Given the description of an element on the screen output the (x, y) to click on. 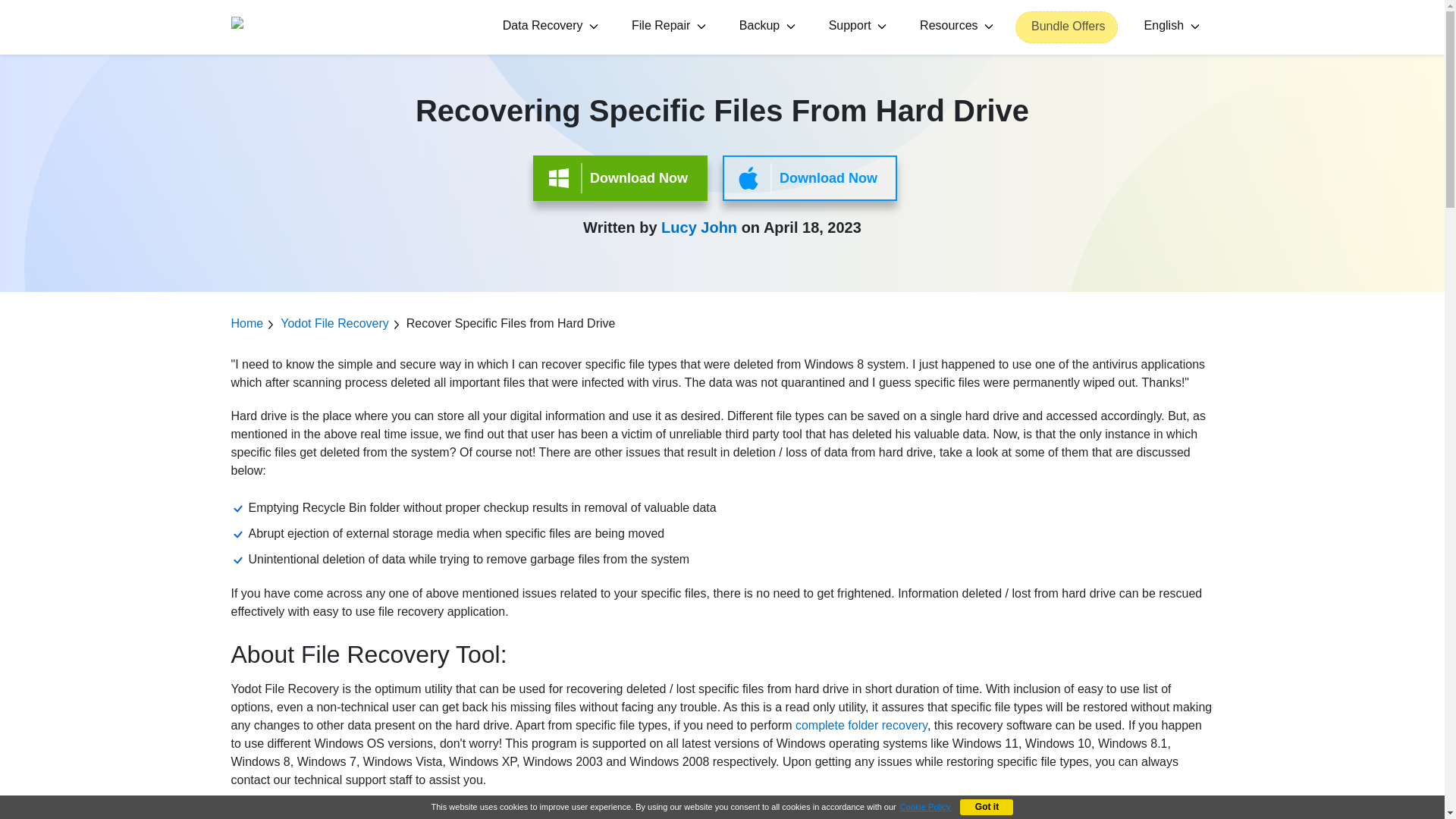
Backup (764, 26)
Bundle Offers (1066, 27)
File Repair (665, 26)
Resources (954, 26)
Data Recovery (547, 26)
Support (854, 26)
